Given the description of an element on the screen output the (x, y) to click on. 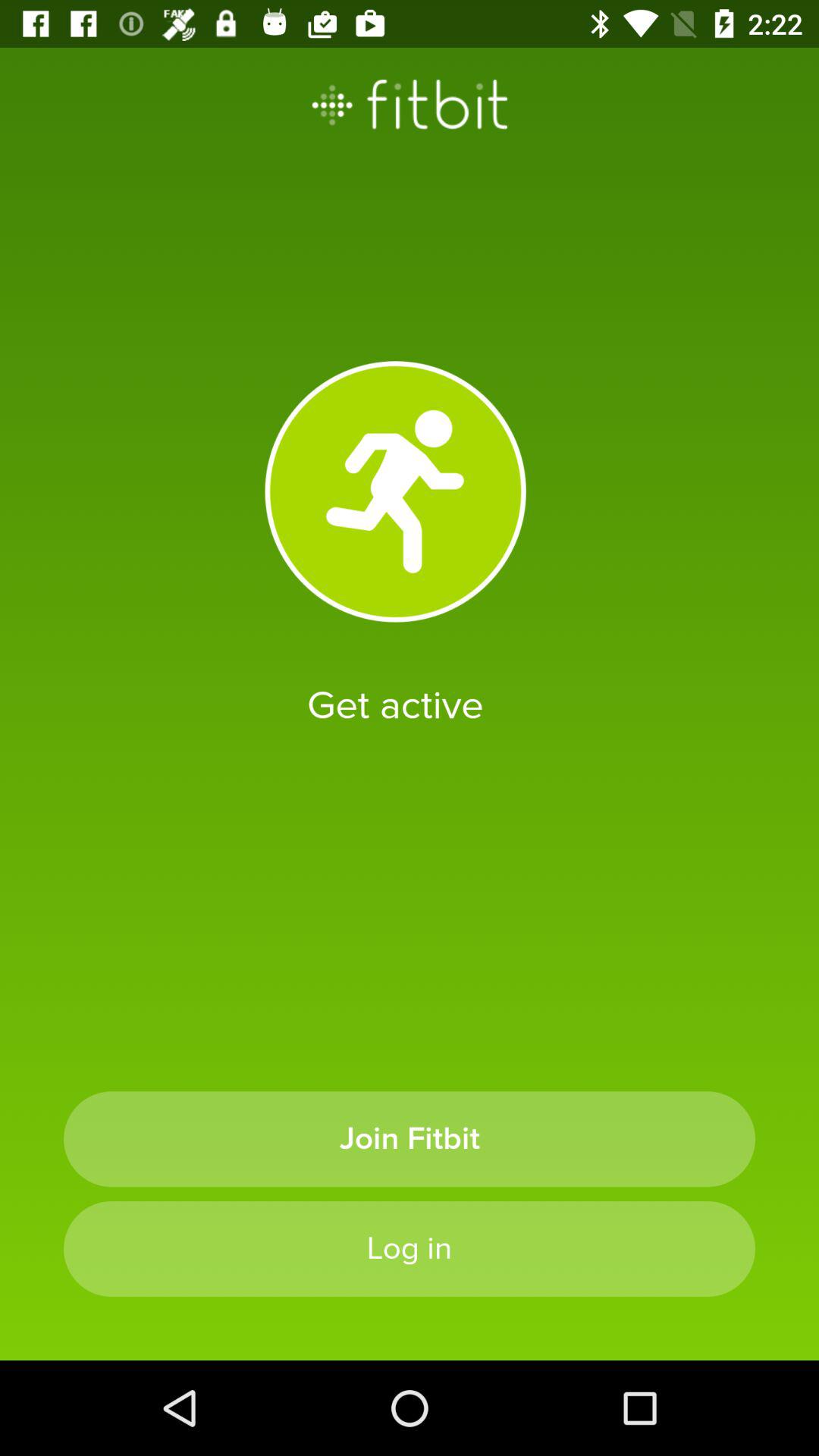
scroll to the log in item (409, 1248)
